Given the description of an element on the screen output the (x, y) to click on. 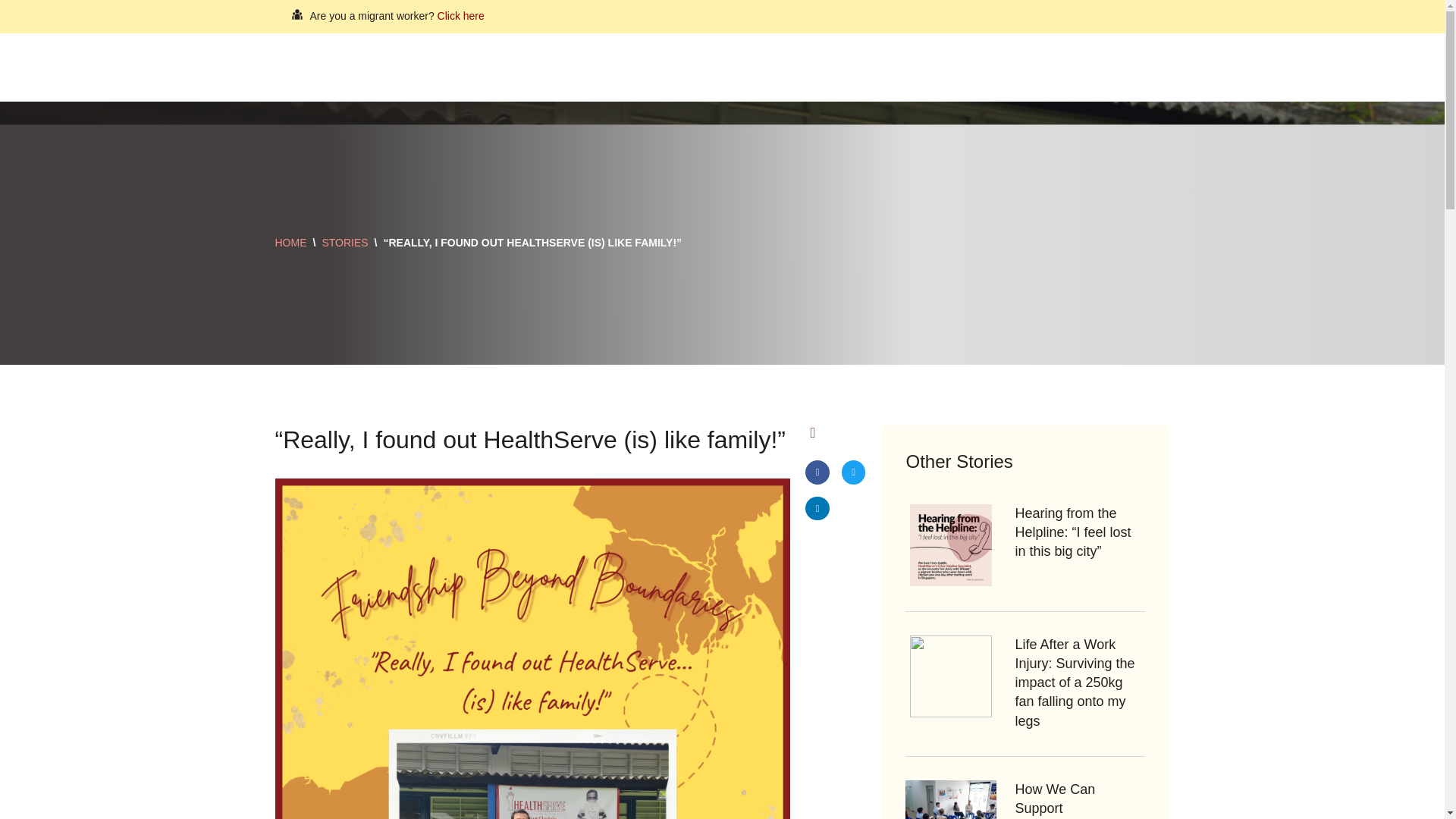
Home (660, 67)
Are you a migrant worker? (372, 15)
Click here (461, 15)
Get Involved (731, 67)
